Given the description of an element on the screen output the (x, y) to click on. 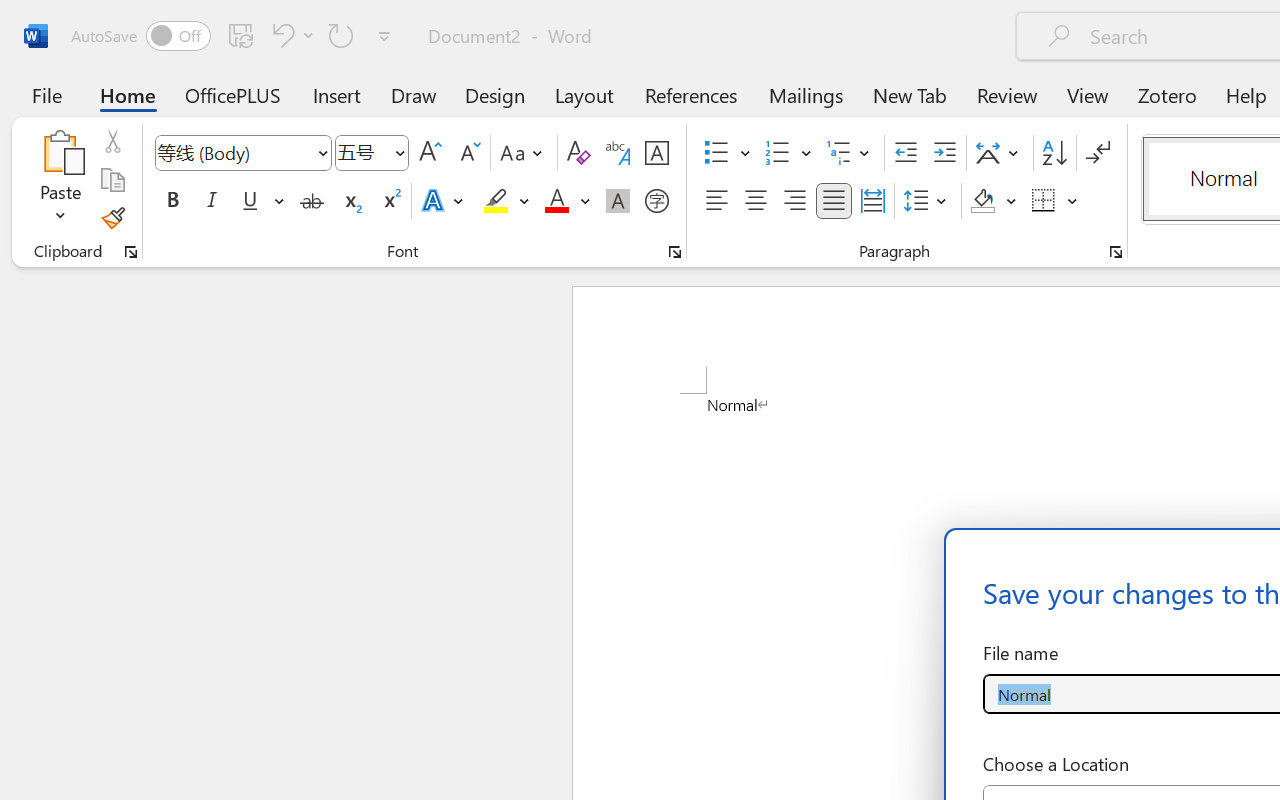
Increase Indent (944, 153)
Numbering (778, 153)
Text Highlight Color (506, 201)
Italic (212, 201)
Paragraph... (1115, 252)
Borders (1044, 201)
References (690, 94)
Font Color (567, 201)
AutoSave (140, 35)
Line and Paragraph Spacing (927, 201)
Bold (172, 201)
Open (399, 152)
Copy (112, 179)
Asian Layout (1000, 153)
Paste (60, 179)
